Given the description of an element on the screen output the (x, y) to click on. 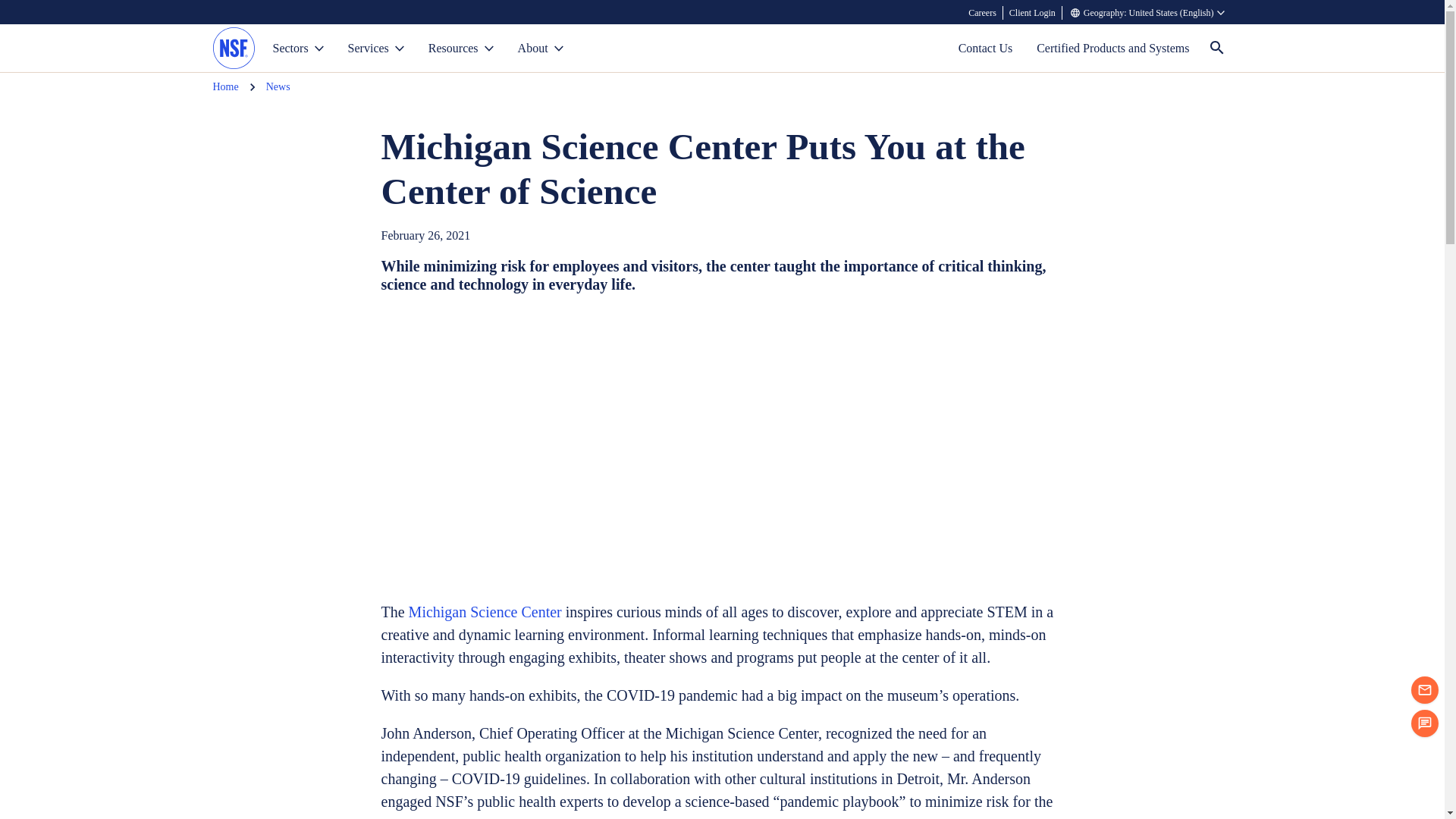
Services (376, 48)
Contact Us (985, 48)
Client Login (1032, 12)
Chat with us (1424, 723)
Home (225, 86)
NSF Logo (232, 48)
About (540, 48)
Michigan Science Center (485, 611)
Contact us (1424, 689)
Careers (982, 12)
Resources (460, 48)
News (277, 86)
Sectors (298, 48)
Certified Products and Systems (1113, 48)
